Given the description of an element on the screen output the (x, y) to click on. 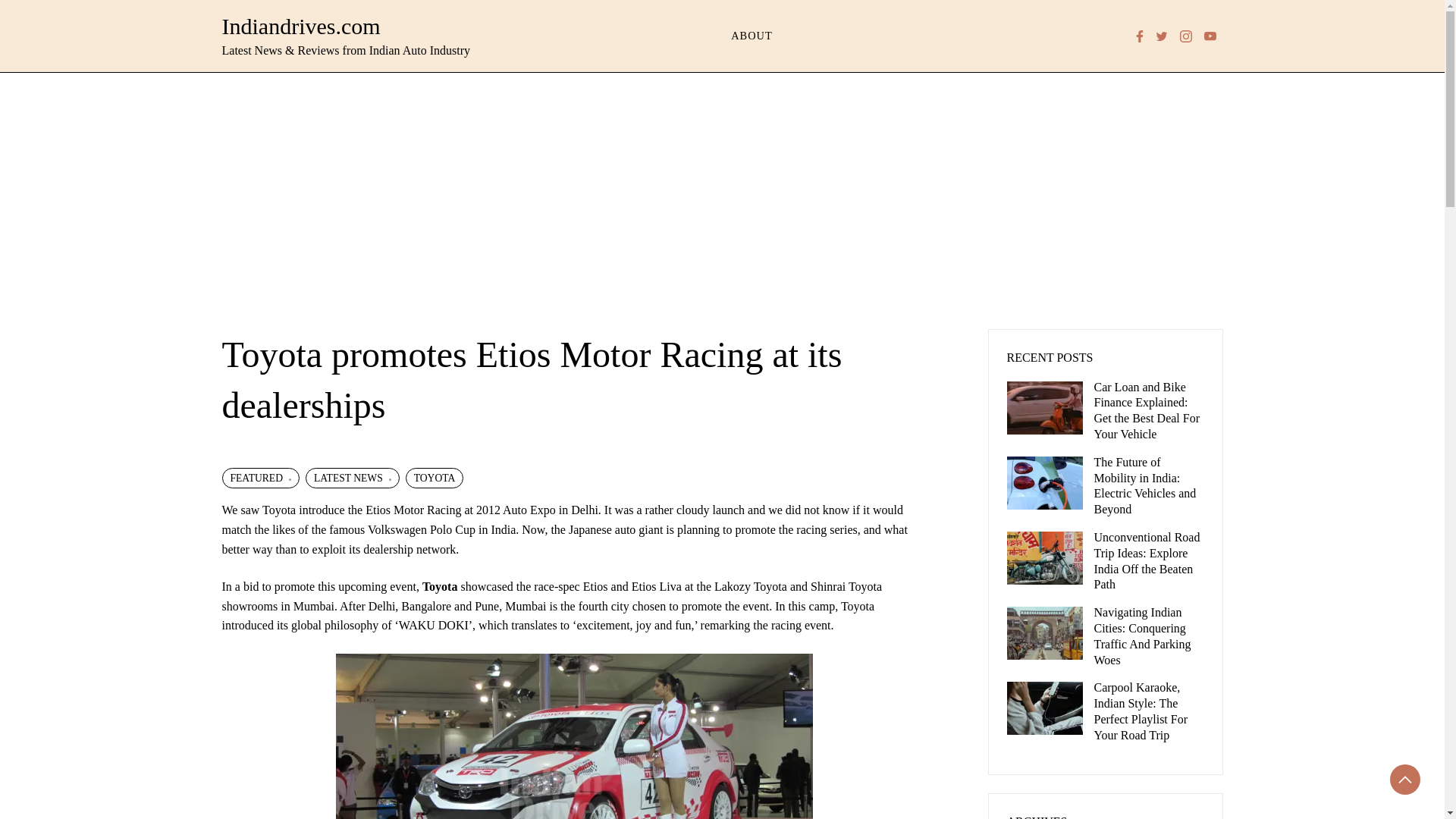
ABOUT (751, 35)
Toyota promotes Etios Motor Racing at its dealerships (574, 736)
LATEST NEWS (351, 477)
TOYOTA (435, 477)
Indiandrives.com (300, 25)
FEATURED (259, 477)
